Given the description of an element on the screen output the (x, y) to click on. 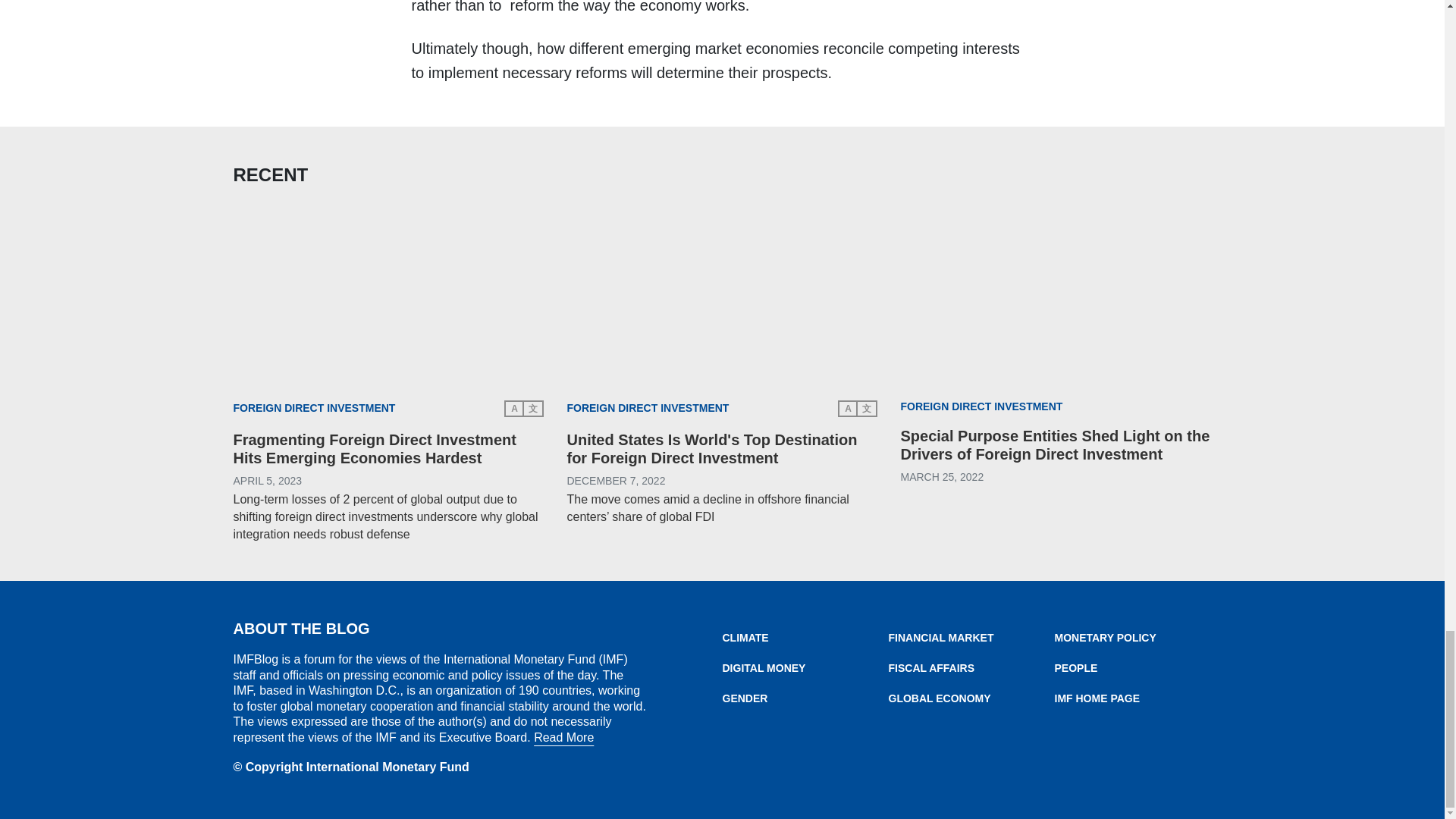
FOREIGN DIRECT INVESTMENT (647, 408)
A (513, 408)
FOREIGN DIRECT INVESTMENT (314, 408)
MONETARY POLICY (1137, 637)
FINANCIAL MARKET (971, 637)
A (847, 408)
FOREIGN DIRECT INVESTMENT (980, 407)
DIGITAL MONEY (805, 667)
GENDER (805, 698)
